Given the description of an element on the screen output the (x, y) to click on. 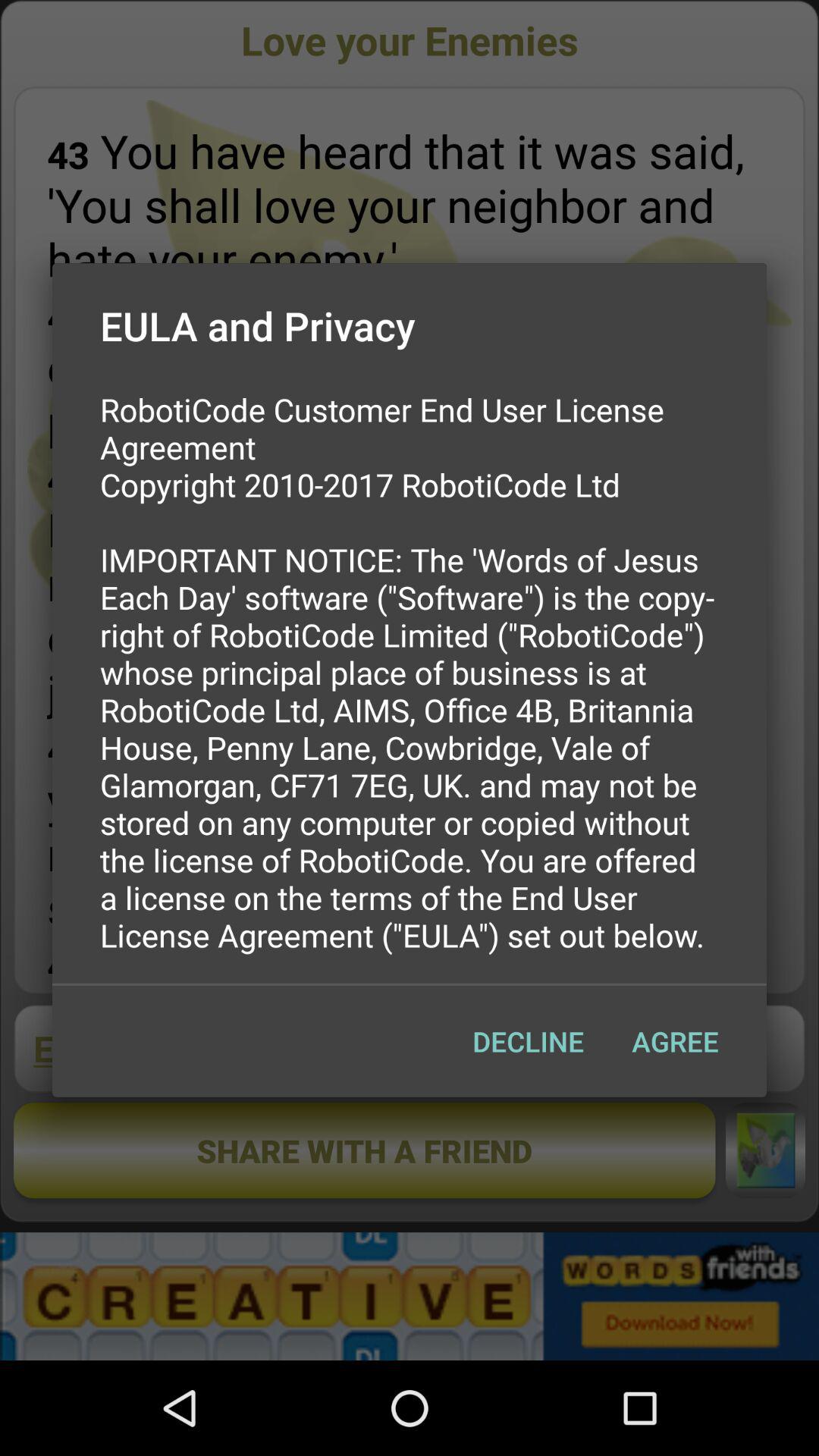
turn on the agree at the bottom right corner (674, 1041)
